Given the description of an element on the screen output the (x, y) to click on. 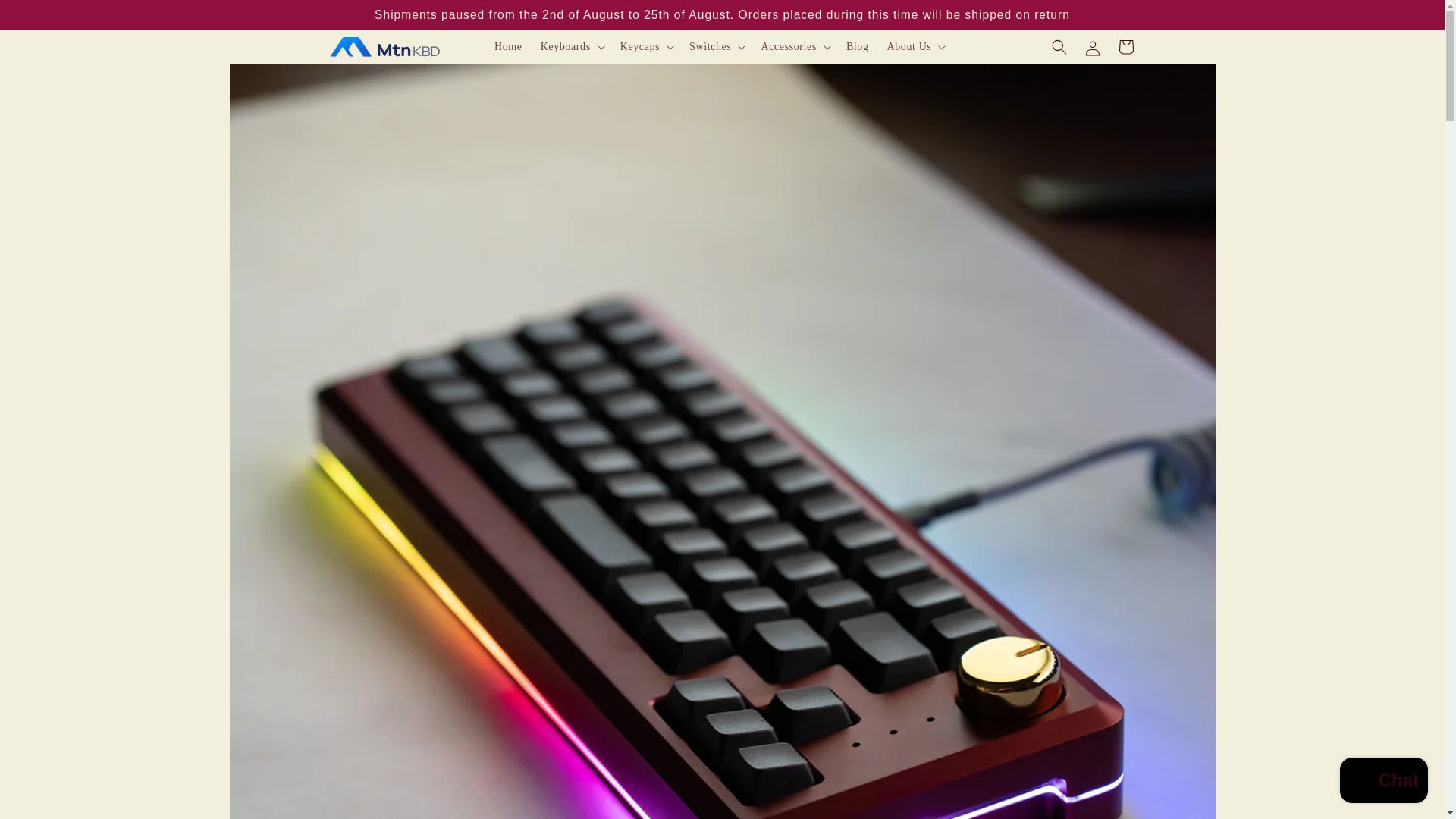
Skip to content (46, 18)
Shopify online store chat (1383, 781)
Home (507, 47)
